Given the description of an element on the screen output the (x, y) to click on. 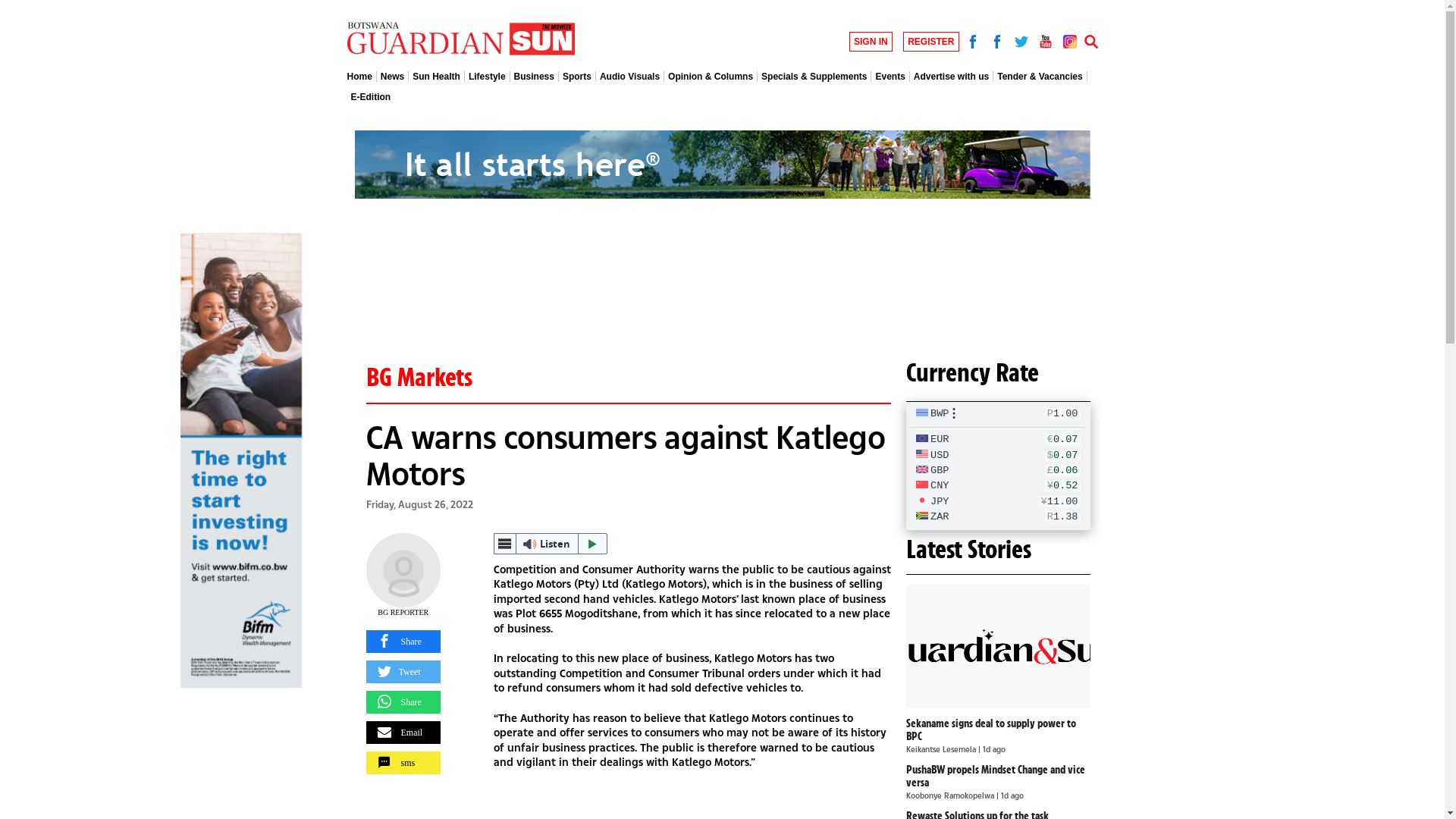
Tweet Element type: text (402, 671)
Advertise with us Element type: text (951, 76)
Sekaname signs  deal to supply power to BPC Element type: hover (998, 645)
Email Element type: text (402, 732)
Home Element type: text (361, 76)
E-Edition Element type: text (369, 96)
Share Element type: text (402, 701)
Twitter Element type: hover (1020, 39)
Events Element type: text (890, 76)
PushaBW propels Mindset Change and vice versa Element type: text (995, 775)
Facebook Element type: hover (996, 39)
Currency Rate Element type: text (972, 372)
REGISTER Element type: text (930, 41)
SIGN IN Element type: text (870, 41)
Youtube Element type: hover (1044, 39)
Guardian Sun Element type: hover (460, 39)
Share Element type: text (402, 641)
Audio Visuals Element type: text (630, 76)
Facebook Element type: hover (971, 39)
Opinion & Columns Element type: text (710, 76)
Specials & Supplements Element type: text (814, 76)
BG Markets Element type: text (418, 376)
News Element type: text (392, 76)
webReader menu Element type: hover (504, 543)
Tender & Vacancies Element type: text (1040, 76)
Koobonye Ramokopelwa Element type: text (951, 795)
sms Element type: text (402, 762)
BG REPORTER Element type: hover (402, 570)
Listen Element type: text (550, 543)
Business Element type: text (534, 76)
Keikantse Lesemela Element type: text (942, 748)
Lifestyle Element type: text (487, 76)
BIFM Element type: hover (240, 459)
Sun Health Element type: text (436, 76)
Instagram Element type: hover (1068, 39)
Sports Element type: text (577, 76)
BG REPORTER Element type: text (402, 612)
Sekaname signs deal to supply power to BPC Element type: text (991, 729)
